Given the description of an element on the screen output the (x, y) to click on. 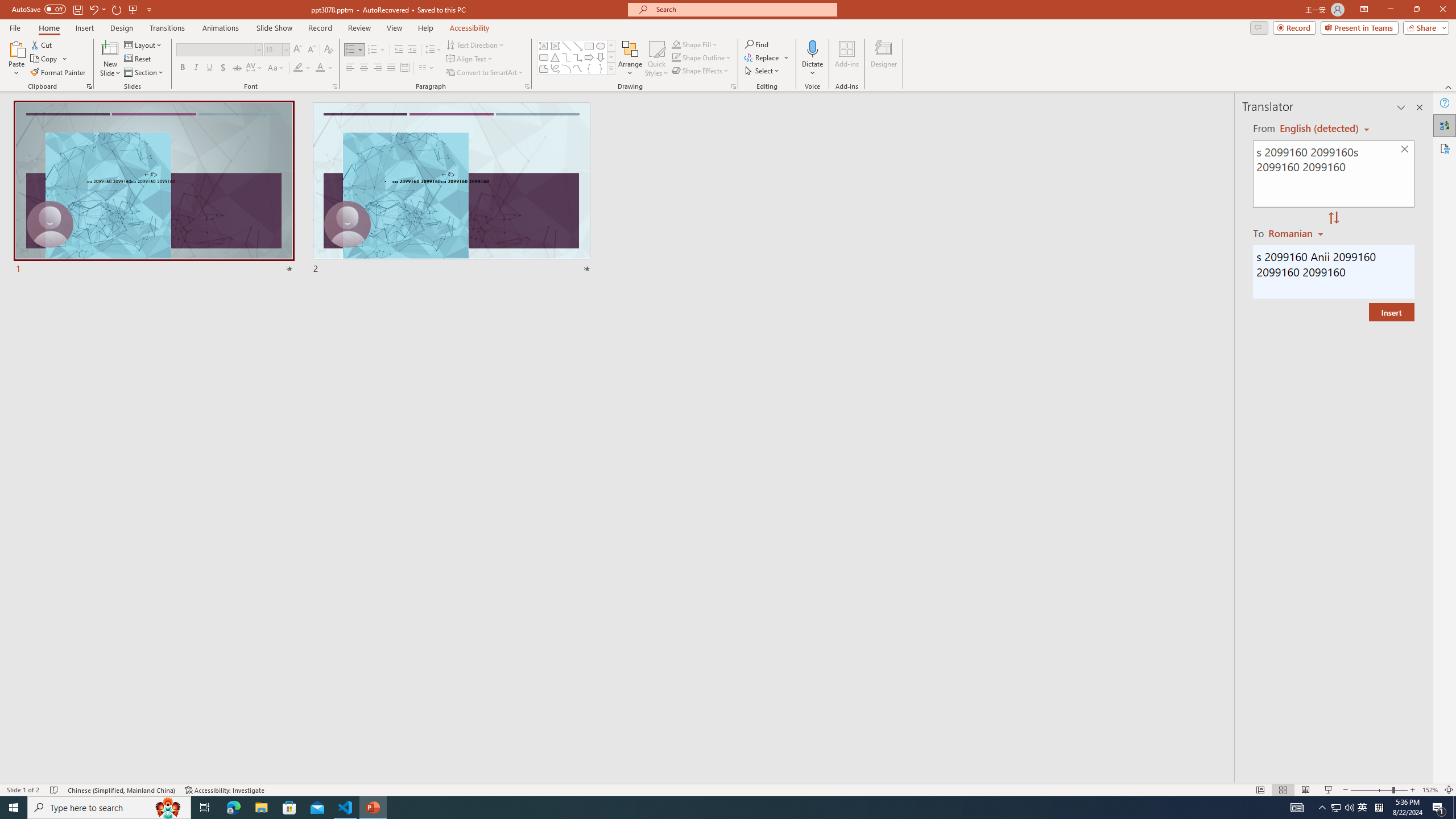
Romanian (1296, 232)
